Given the description of an element on the screen output the (x, y) to click on. 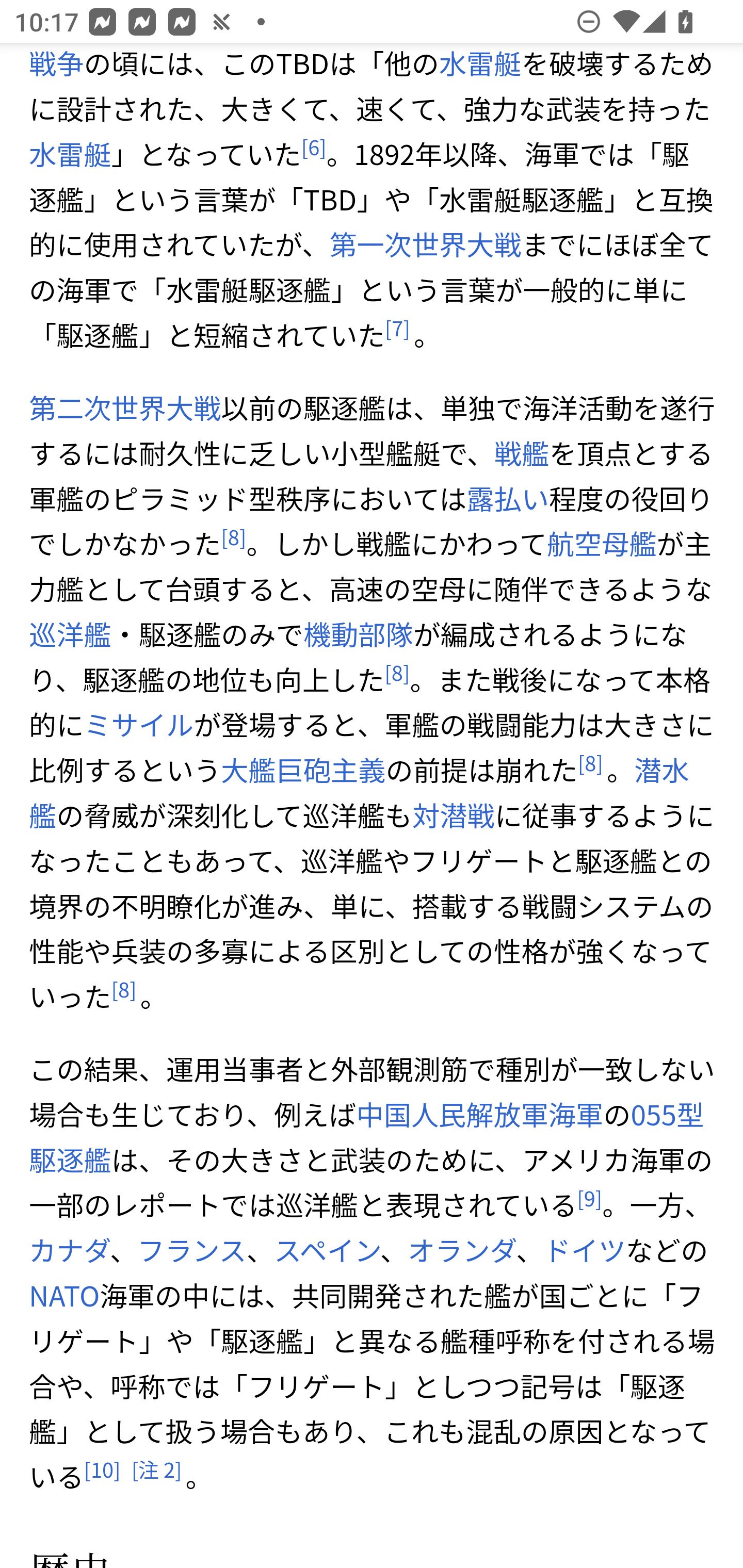
日露戦争 (359, 63)
水雷艇 (478, 63)
[] [ 6 ] (312, 147)
水雷艇 (70, 154)
第一次世界大戦 (424, 244)
[] [ 7 ] (396, 328)
第二次世界大戦 (125, 407)
戦艦 (521, 453)
露払い (507, 499)
[] [ 8 ] (233, 536)
航空母艦 (601, 543)
巡洋艦 (70, 634)
機動部隊 (357, 634)
[] [ 8 ] (396, 672)
ミサイル (138, 724)
[] [ 8 ] (589, 763)
潜水艦 (358, 792)
大艦巨砲主義 (303, 769)
対潜戦 (452, 814)
[] [ 8 ] (123, 990)
055型駆逐艦 (366, 1137)
中国人民解放軍海軍 (479, 1114)
[] [ 9 ] (589, 1198)
カナダ (68, 1250)
フランス (192, 1250)
スペイン (326, 1250)
オランダ (461, 1250)
ドイツ (583, 1250)
NATO (64, 1294)
[] [ 10 ] (101, 1469)
[注 ] [注  2 ] (156, 1469)
